Given the description of an element on the screen output the (x, y) to click on. 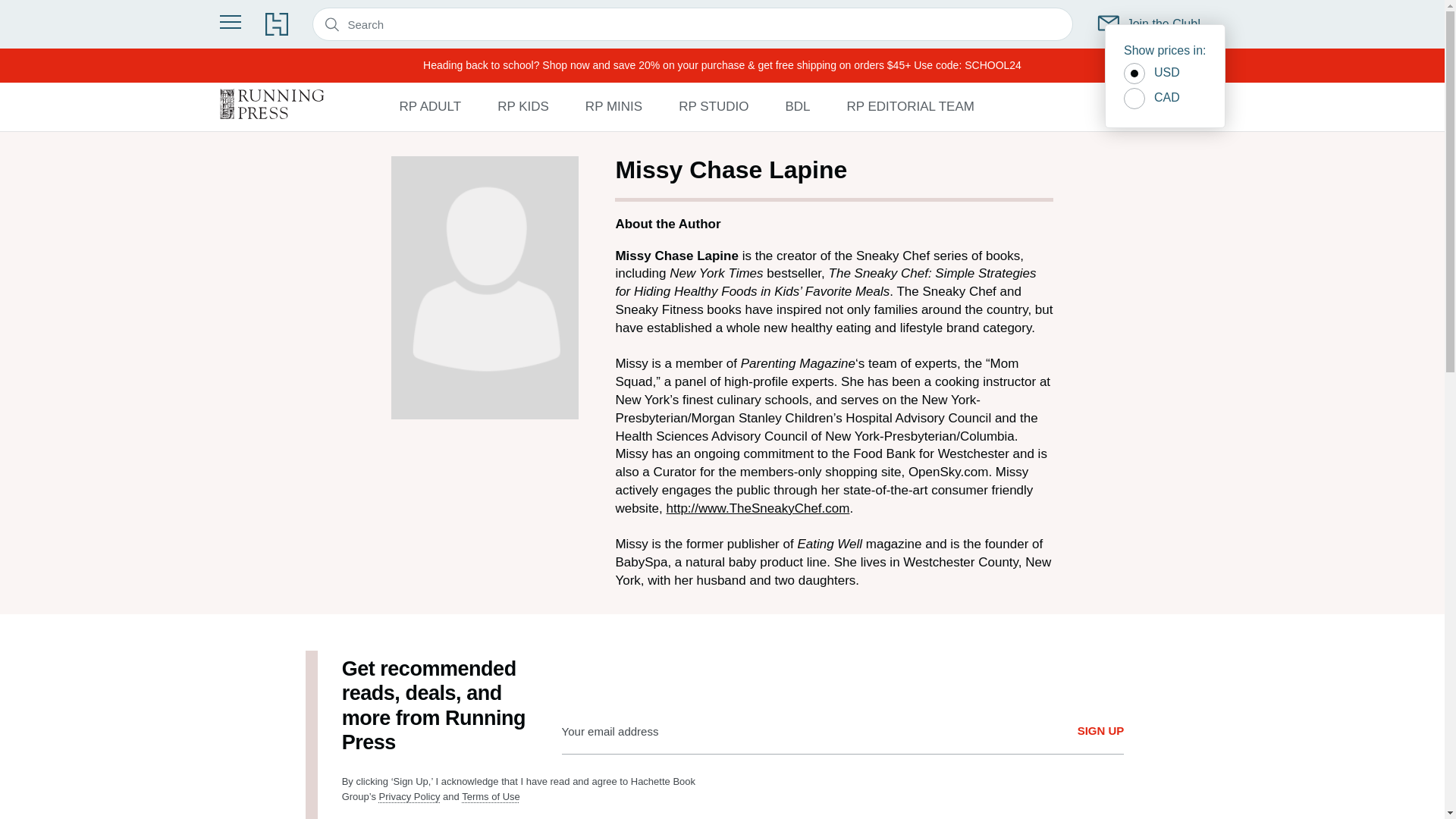
RP MINIS (613, 106)
Go to Hachette Book Group home (276, 24)
Join the Club! (1149, 24)
RP KIDS (522, 106)
Terms of Use (490, 796)
RP STUDIO (713, 106)
SIGN UP (1100, 731)
RP ADULT (429, 106)
